Given the description of an element on the screen output the (x, y) to click on. 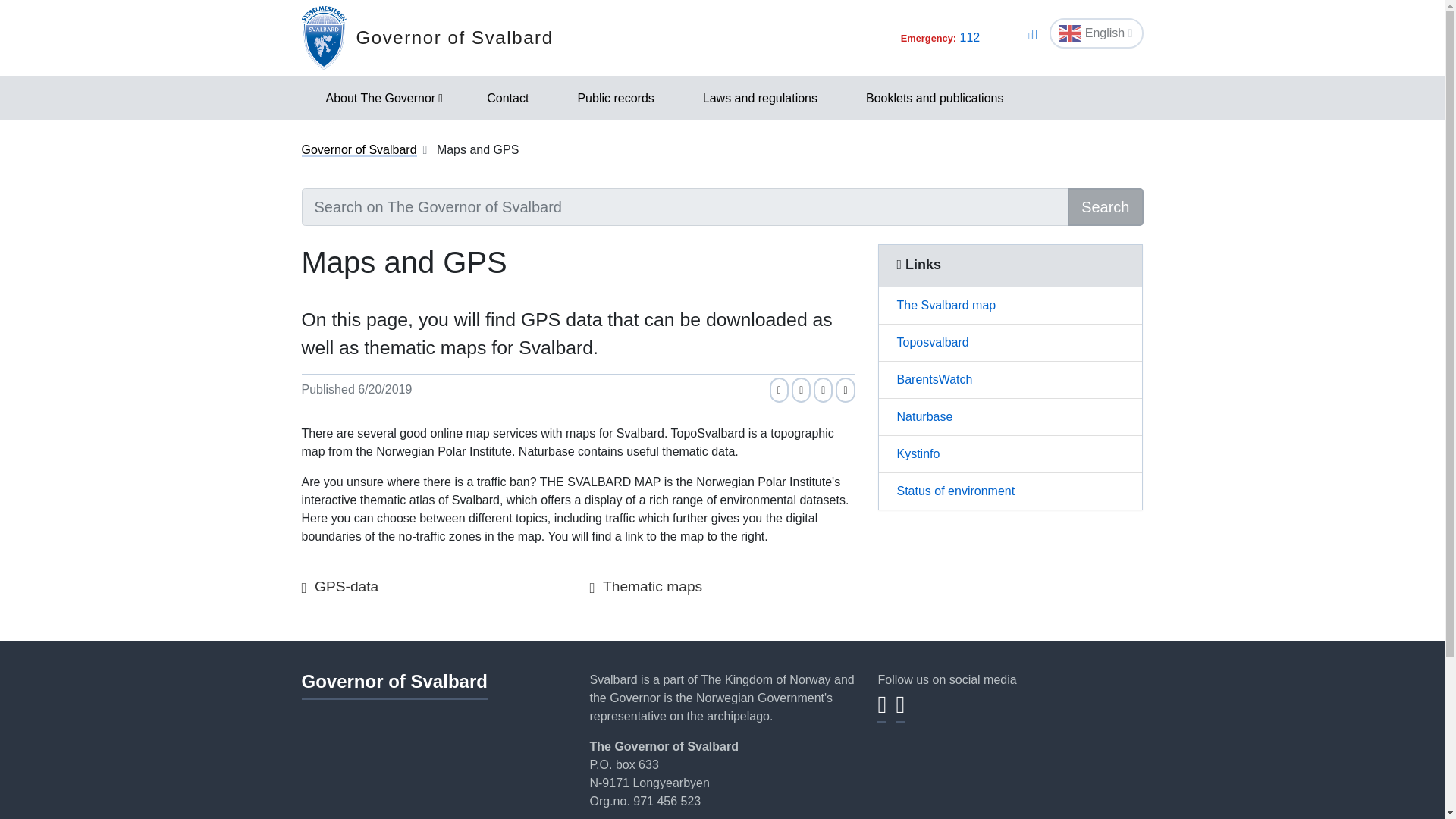
Public records (615, 97)
The Svalbard map (1009, 305)
BarentsWatch (1009, 379)
112 (969, 37)
Laws and regulations (759, 97)
Status of environment (1009, 490)
Status of environment (1009, 490)
Naturbase (1009, 416)
Booklets and publications (934, 97)
Toposvalbard (1009, 342)
BarentsWatch (1009, 379)
Governor of Svalbard (427, 37)
Toposvalbard (1009, 342)
Governor of Svalbard (358, 150)
About The Governor (382, 97)
